Given the description of an element on the screen output the (x, y) to click on. 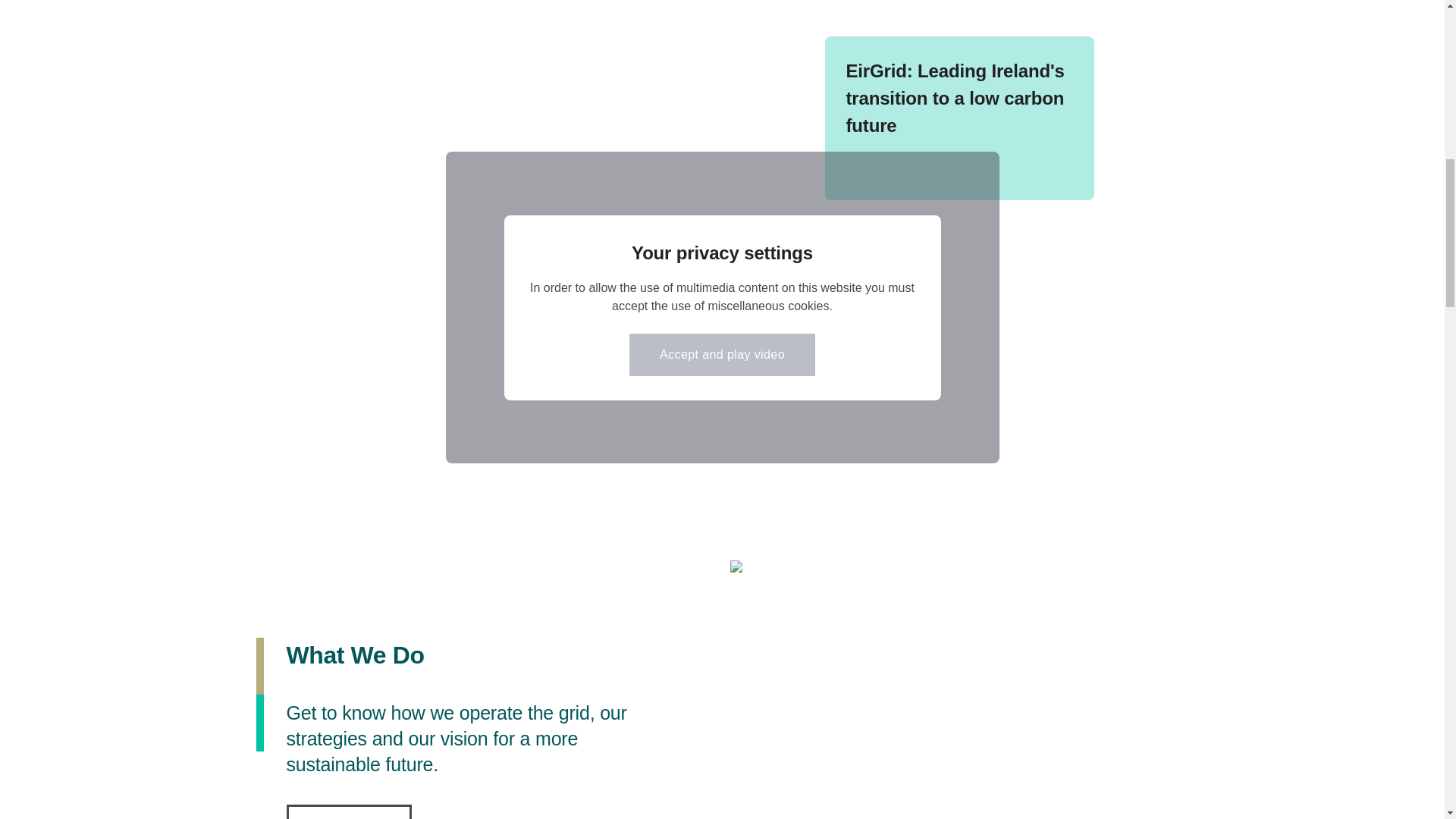
Accept and play video (721, 354)
Learn more (349, 811)
